Given the description of an element on the screen output the (x, y) to click on. 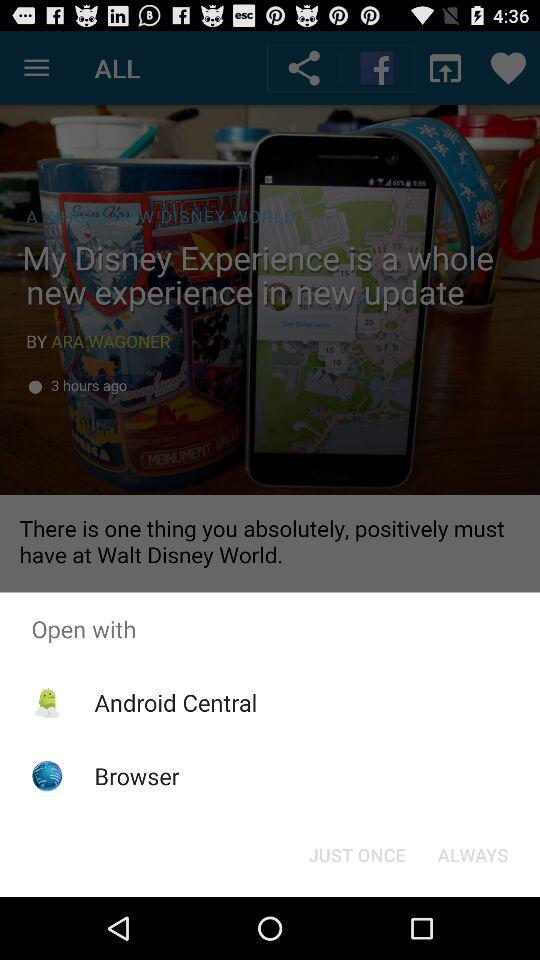
tap item below the open with icon (472, 854)
